Given the description of an element on the screen output the (x, y) to click on. 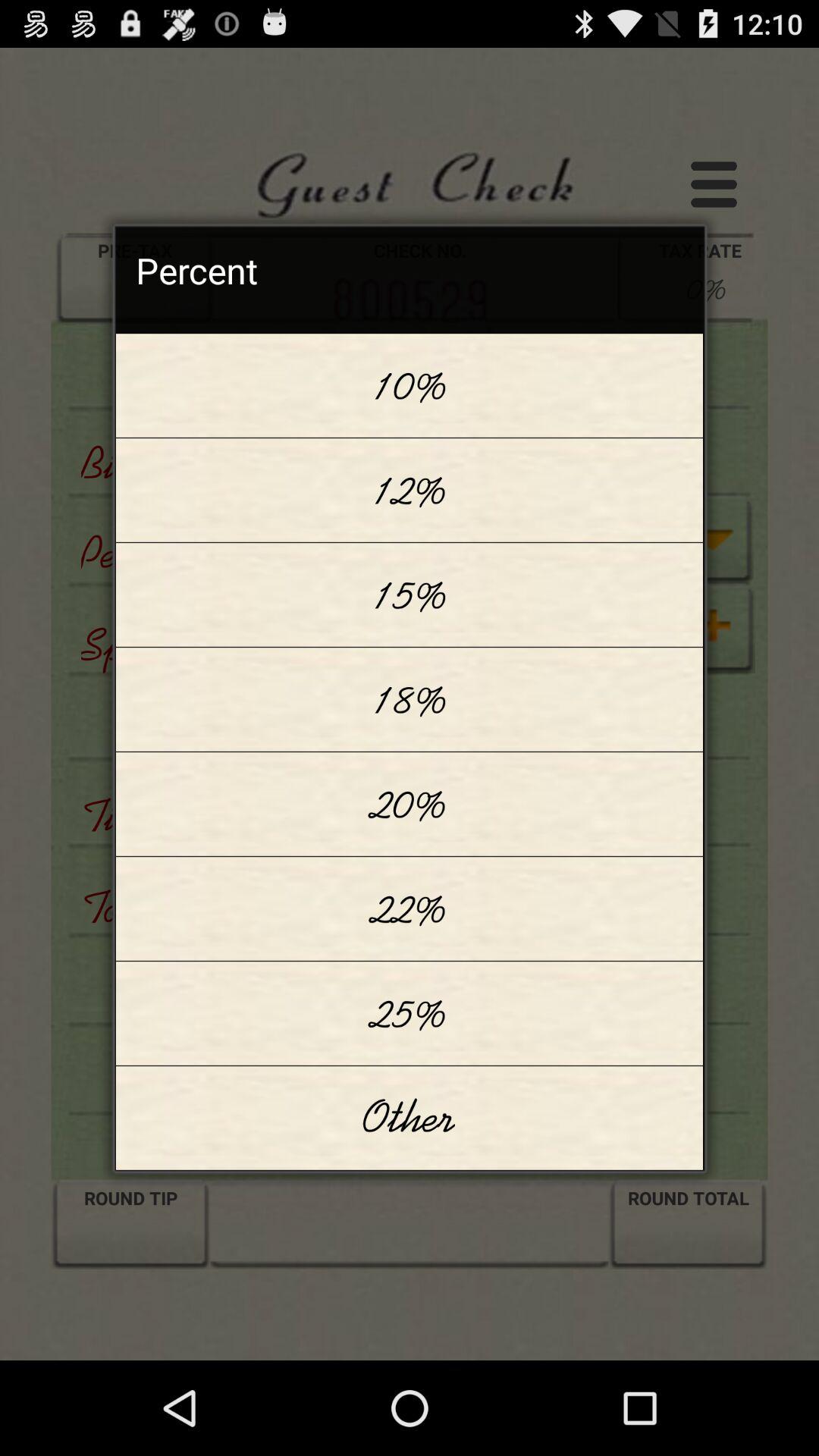
turn off item above the 15% app (409, 489)
